Given the description of an element on the screen output the (x, y) to click on. 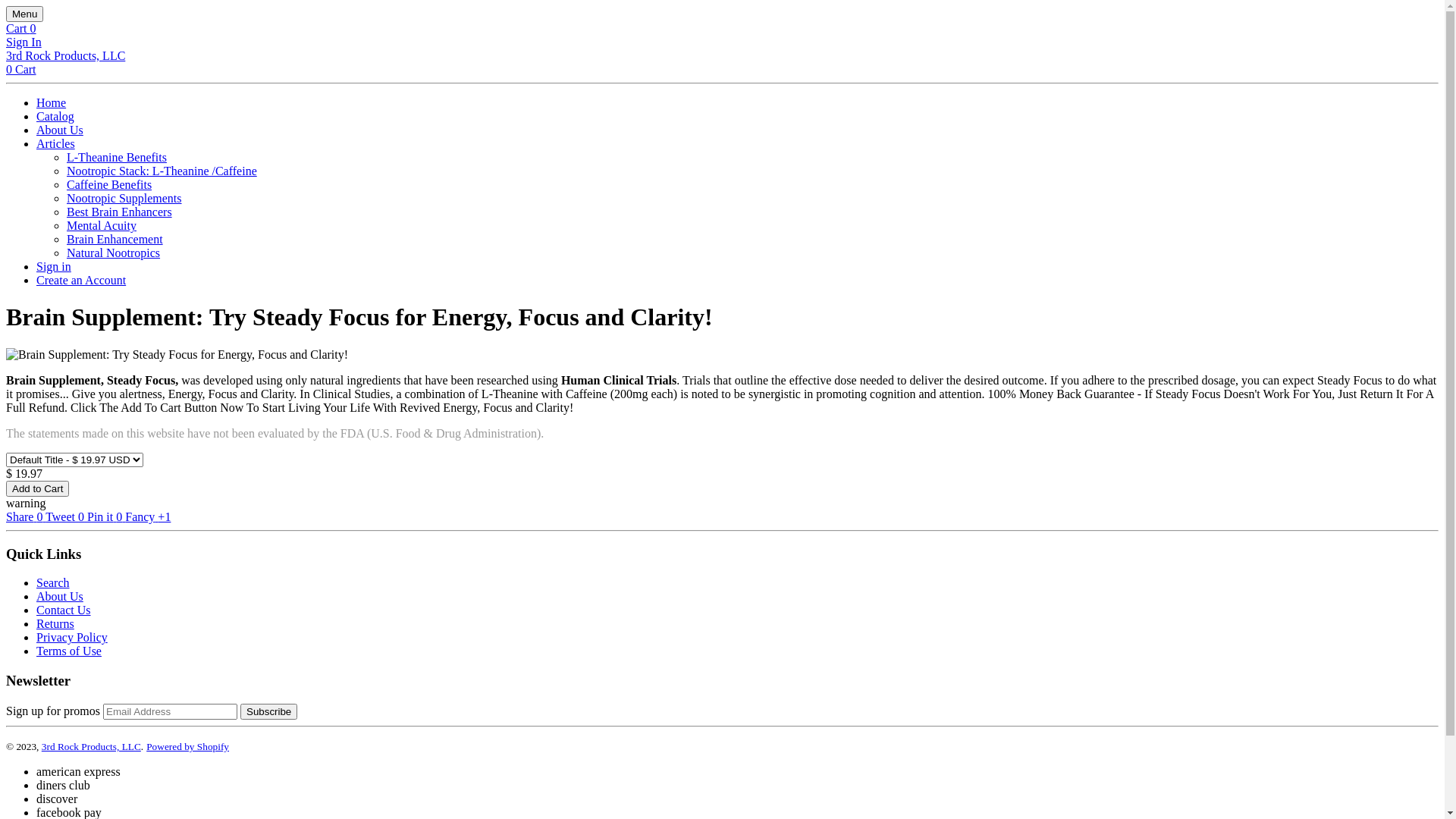
Sign In Element type: text (23, 41)
Natural Nootropics Element type: text (113, 252)
Nootropic Supplements Element type: text (124, 197)
Terms of Use Element type: text (68, 650)
Nootropic Stack: L-Theanine /Caffeine Element type: text (161, 170)
Pin it 0 Element type: text (106, 516)
Powered by Shopify Element type: text (187, 746)
About Us Element type: text (59, 129)
Create an Account Element type: text (80, 279)
Sign in Element type: text (53, 266)
Subscribe Element type: text (268, 711)
Search Element type: text (52, 582)
Mental Acuity Element type: text (101, 225)
L-Theanine Benefits Element type: text (116, 156)
+1 Element type: text (163, 516)
Fancy Element type: text (141, 516)
About Us Element type: text (59, 595)
0 Cart Element type: text (21, 68)
Contact Us Element type: text (63, 609)
Returns Element type: text (55, 623)
Caffeine Benefits Element type: text (108, 184)
3rd Rock Products, LLC Element type: text (91, 746)
Best Brain Enhancers Element type: text (119, 211)
Privacy Policy Element type: text (71, 636)
Add to Cart Element type: text (37, 488)
Brain Enhancement Element type: text (114, 238)
Articles Element type: text (55, 143)
Catalog Element type: text (55, 115)
Menu Element type: text (24, 13)
Home Element type: text (50, 102)
Cart 0 Element type: text (21, 27)
Tweet 0 Element type: text (66, 516)
Share 0 Element type: text (25, 516)
3rd Rock Products, LLC Element type: text (65, 55)
